Given the description of an element on the screen output the (x, y) to click on. 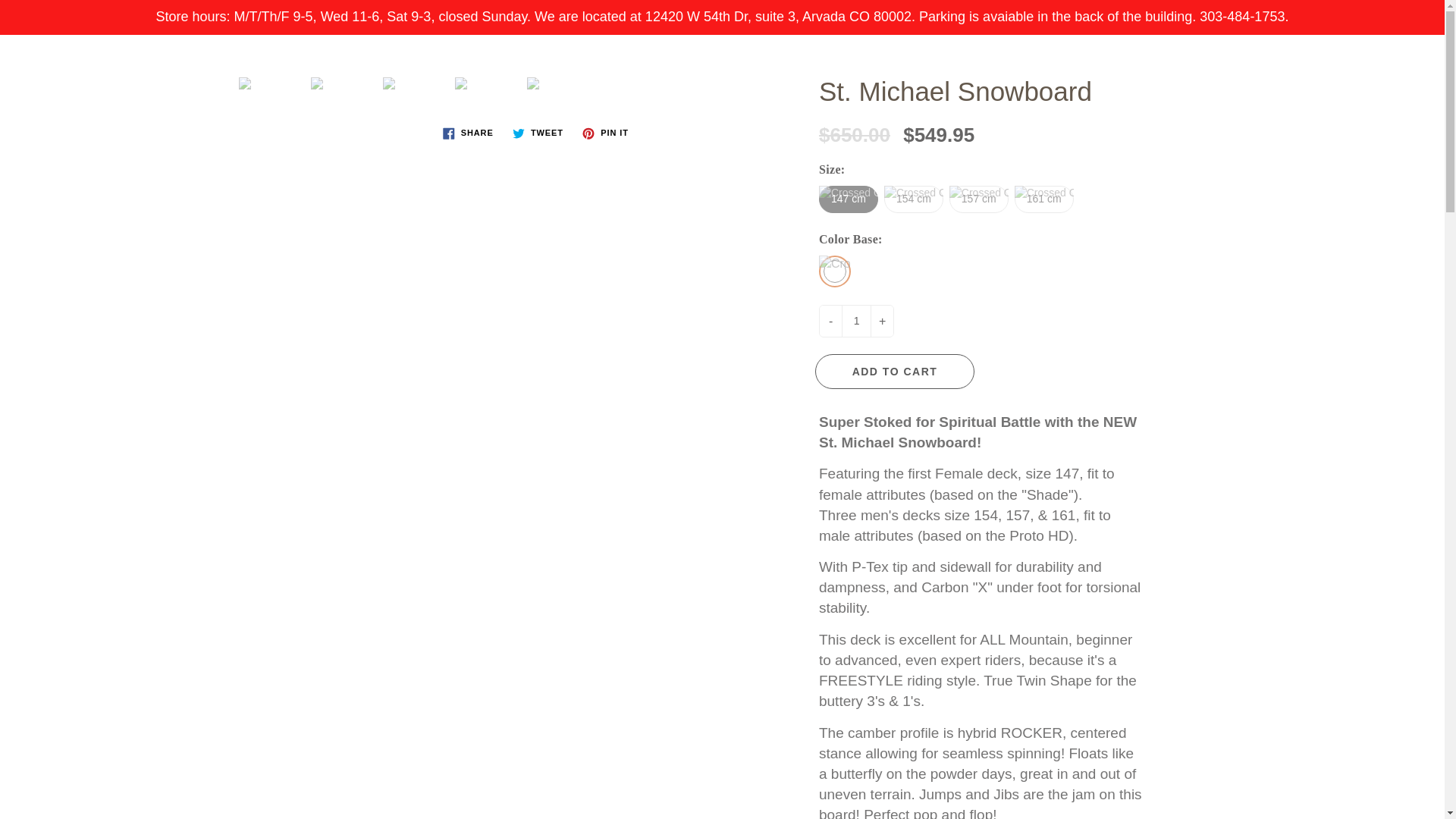
St. Michael Snowboard (343, 82)
ALL COLLECTIONS (582, 116)
My account (1379, 60)
Share on Facebook (467, 133)
St. Michael Snowboard (270, 82)
St. Michael Snowboard (559, 82)
Pin on Pinterest (604, 133)
SHOP WHOLESALE FOR THE RETRO (810, 116)
St. Michael Snowboard (486, 82)
You have 0 items in your cart (1417, 60)
